Given the description of an element on the screen output the (x, y) to click on. 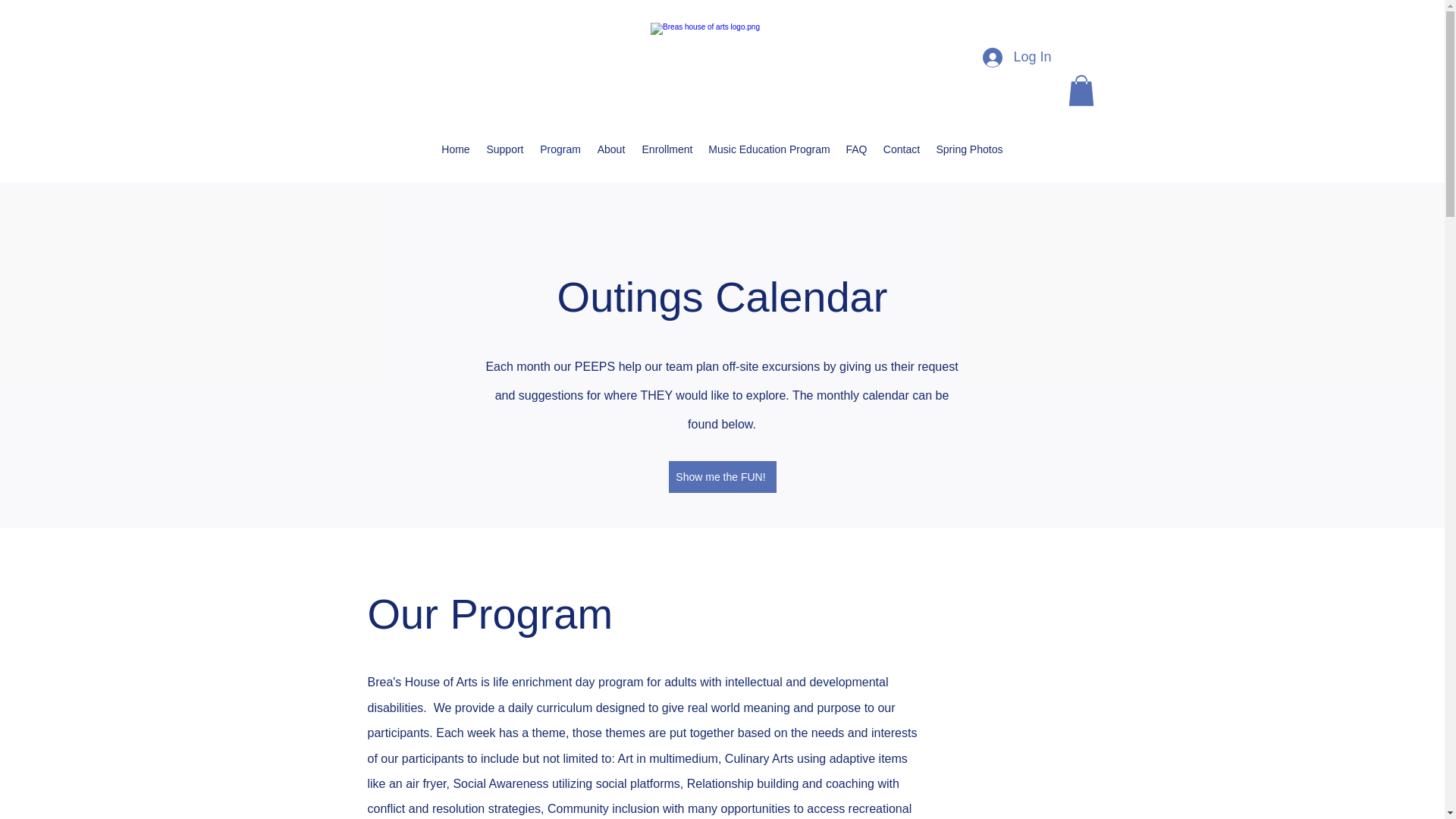
Music Education Program (769, 149)
Show me the FUN! (722, 477)
Enrollment (666, 149)
FAQ (856, 149)
Log In (1016, 57)
Spring Photos (969, 149)
Support (504, 149)
About (610, 149)
Program (560, 149)
Home (455, 149)
